Given the description of an element on the screen output the (x, y) to click on. 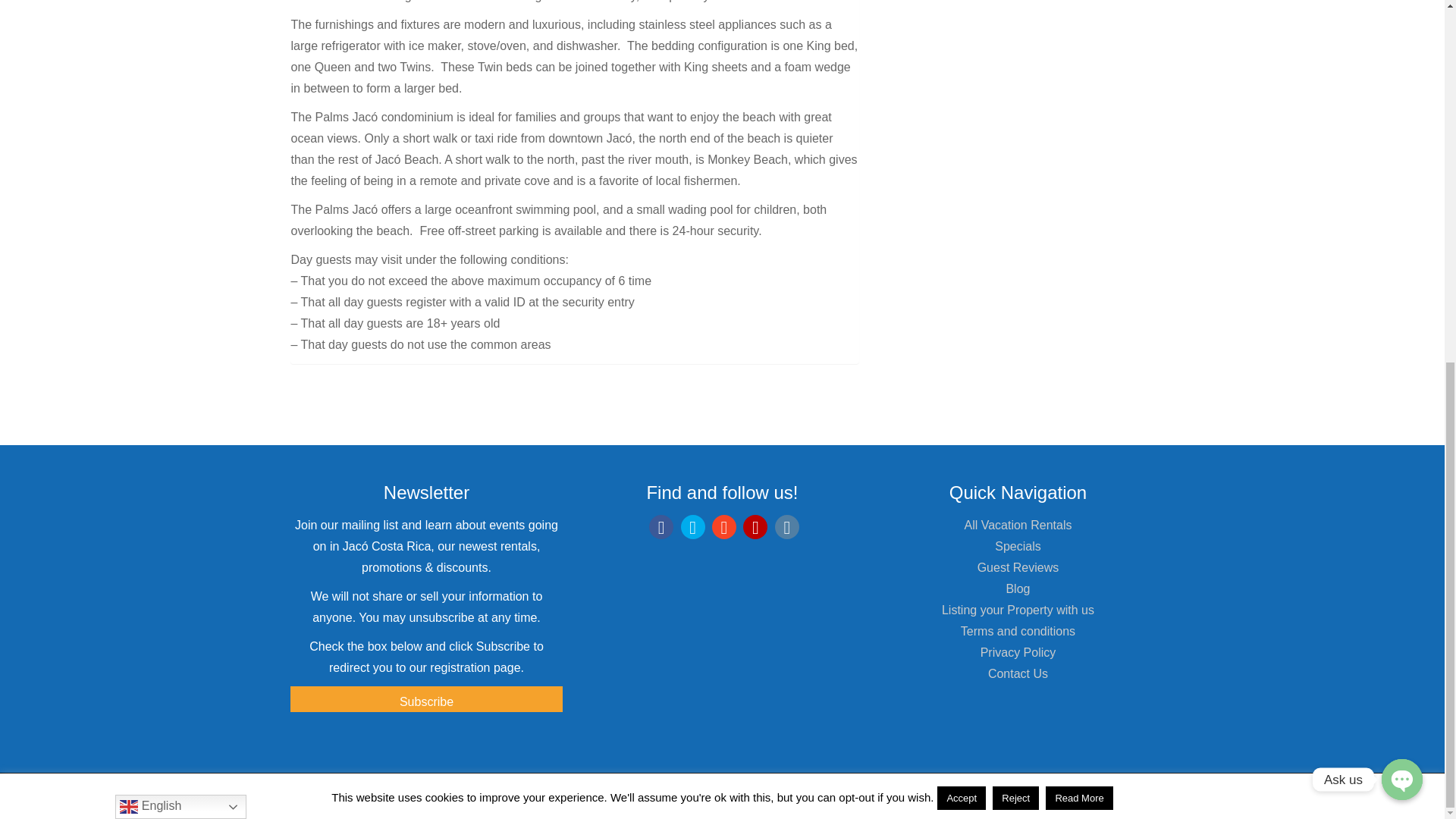
FareHarbor (1342, 236)
Subscribe (425, 698)
